Given the description of an element on the screen output the (x, y) to click on. 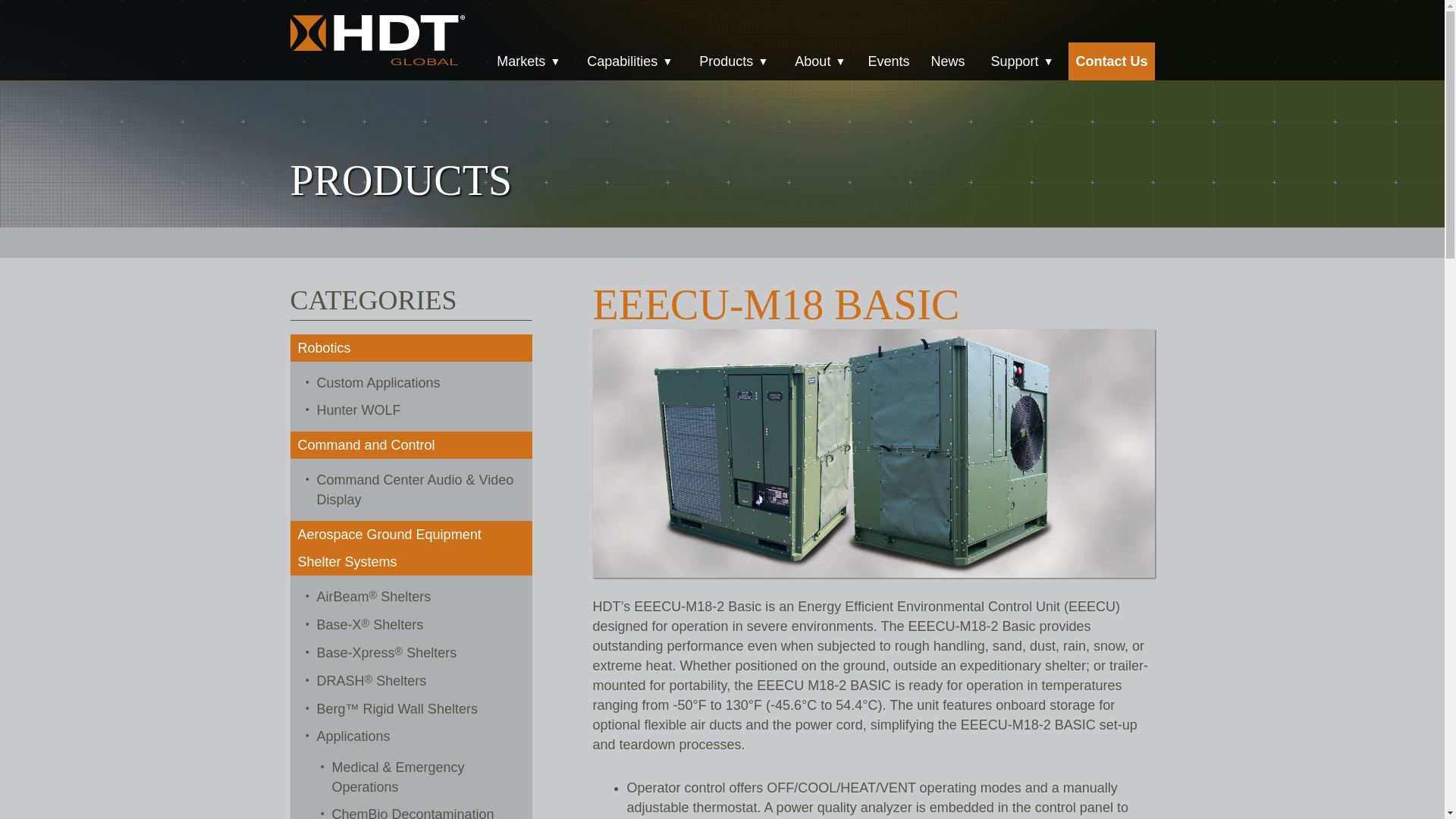
Products (731, 61)
Markets (525, 61)
Capabilities (627, 61)
HDT Global (376, 40)
